Given the description of an element on the screen output the (x, y) to click on. 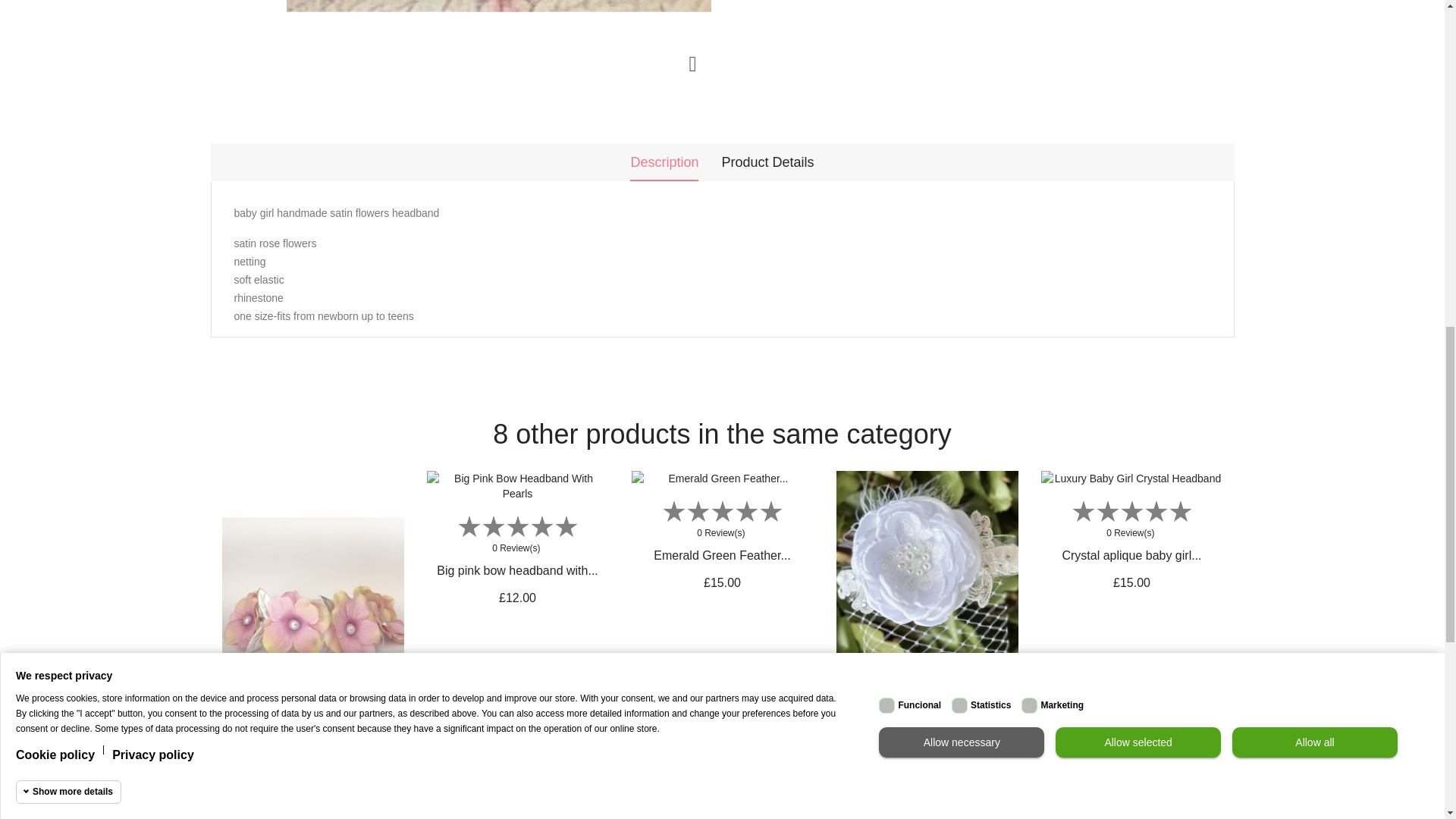
Baby handmade headband Premium multicolor roses (498, 41)
